Given the description of an element on the screen output the (x, y) to click on. 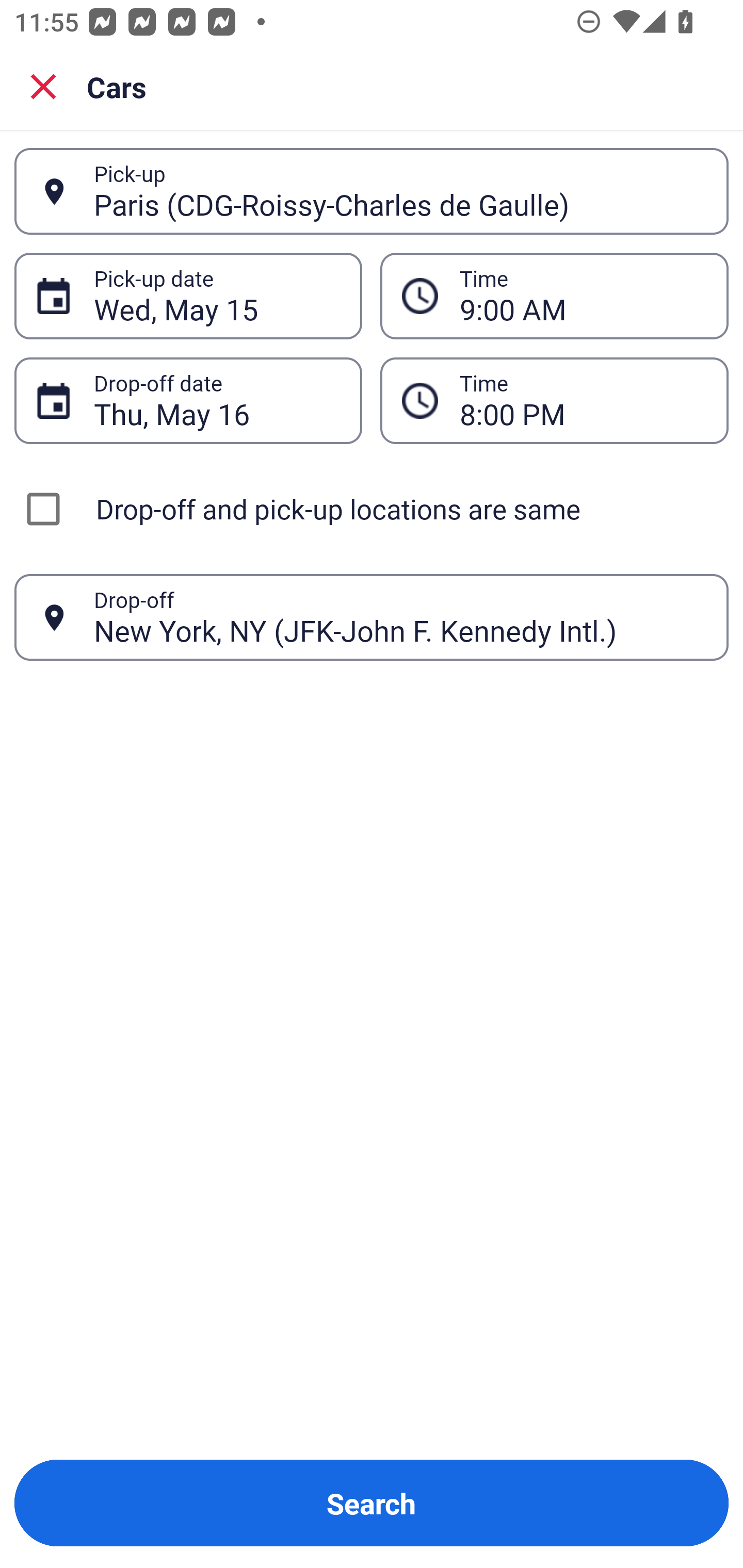
Close search screen (43, 86)
Paris (CDG-Roissy-Charles de Gaulle) Pick-up (371, 191)
Paris (CDG-Roissy-Charles de Gaulle) (399, 191)
Wed, May 15 Pick-up date (188, 295)
9:00 AM (554, 295)
Wed, May 15 (216, 296)
9:00 AM (582, 296)
Thu, May 16 Drop-off date (188, 400)
8:00 PM (554, 400)
Thu, May 16 (216, 400)
8:00 PM (582, 400)
Drop-off and pick-up locations are same (371, 508)
New York, NY (JFK-John F. Kennedy Intl.) Drop-off (371, 616)
New York, NY (JFK-John F. Kennedy Intl.) (399, 616)
Search Button Search (371, 1502)
